Given the description of an element on the screen output the (x, y) to click on. 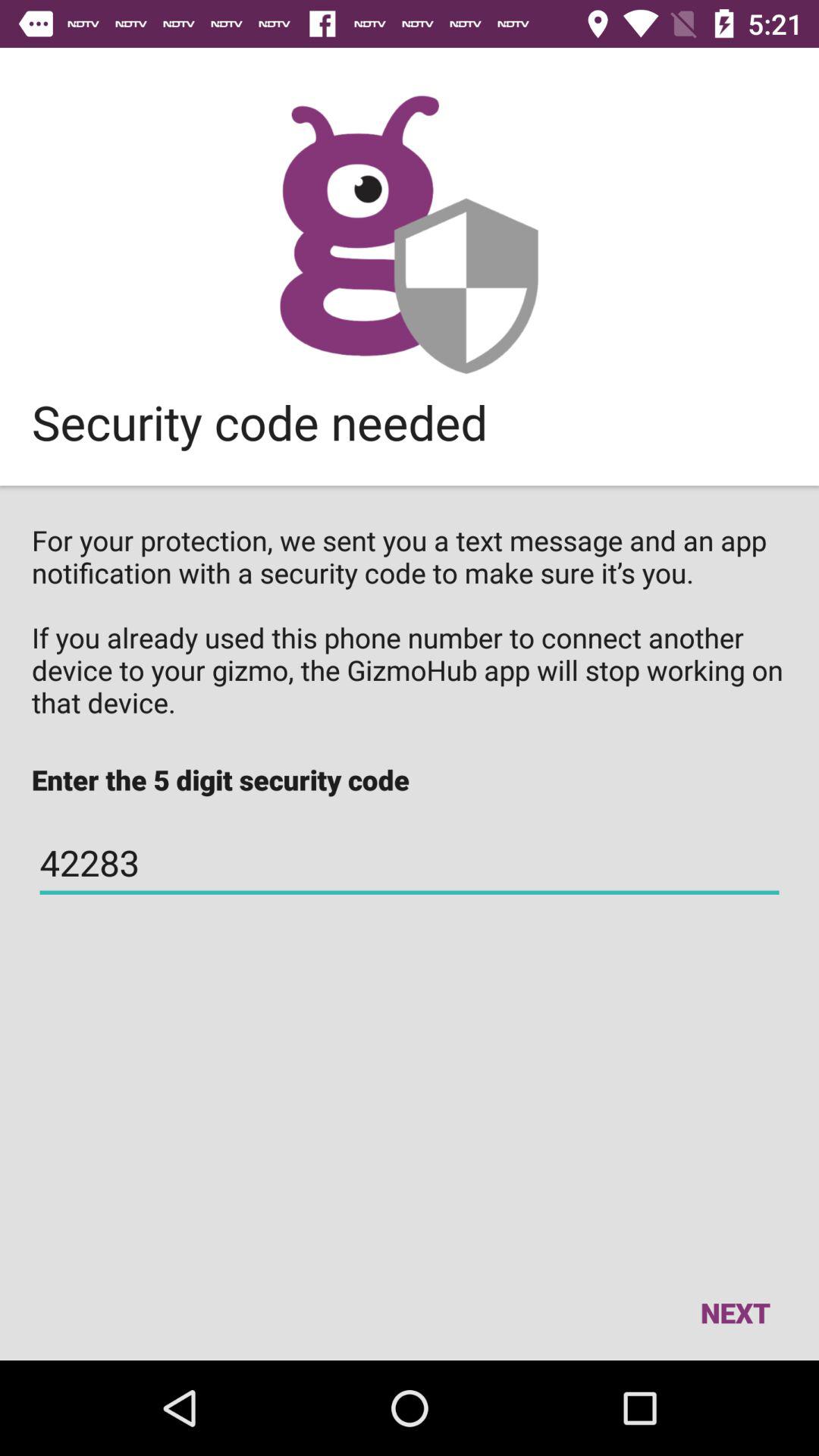
tap item above the security code needed item (408, 234)
